Given the description of an element on the screen output the (x, y) to click on. 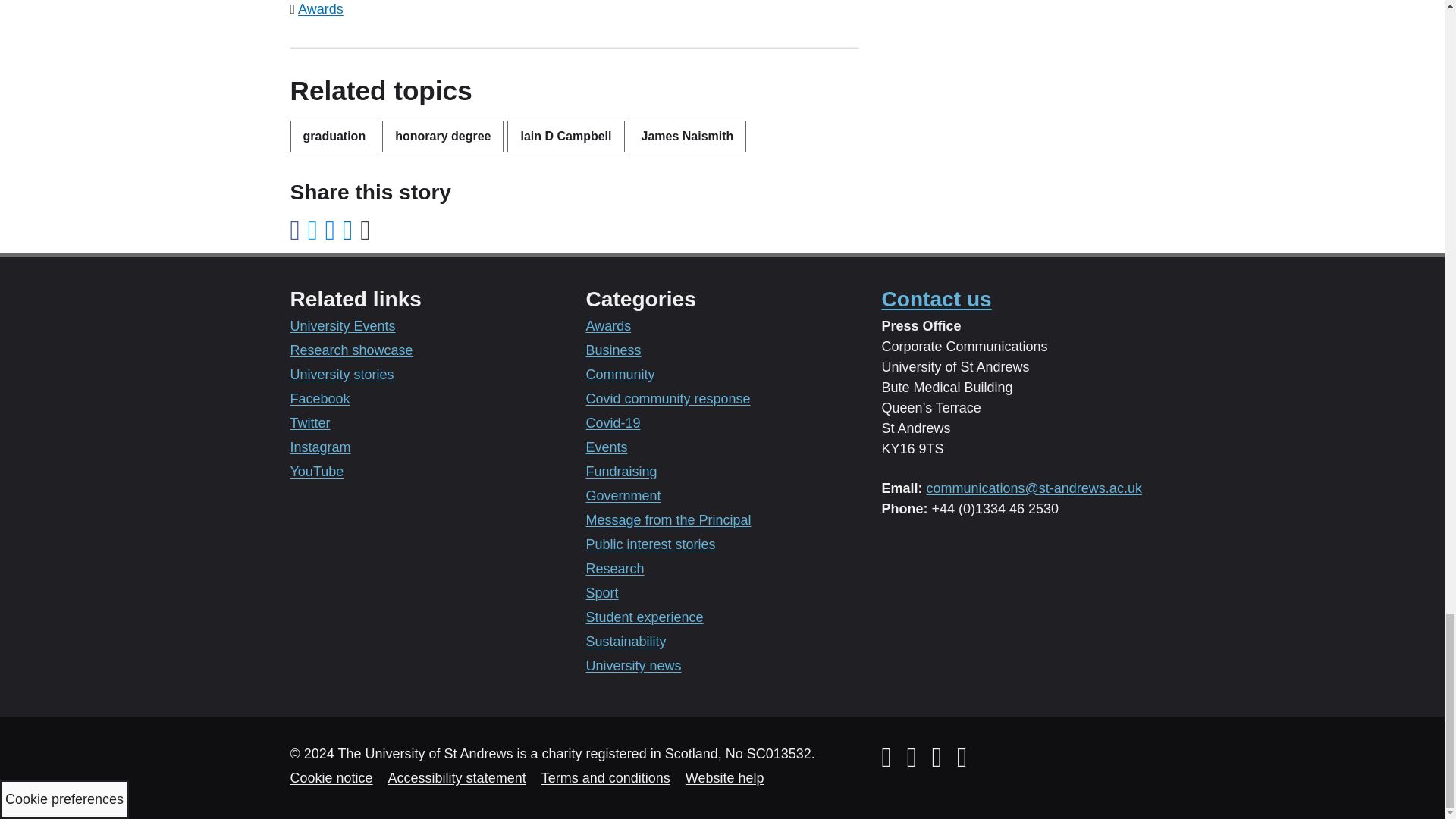
Awards (320, 8)
graduation (333, 136)
Iain D Campbell (565, 136)
honorary degree (442, 136)
James Naismith (687, 136)
